Given the description of an element on the screen output the (x, y) to click on. 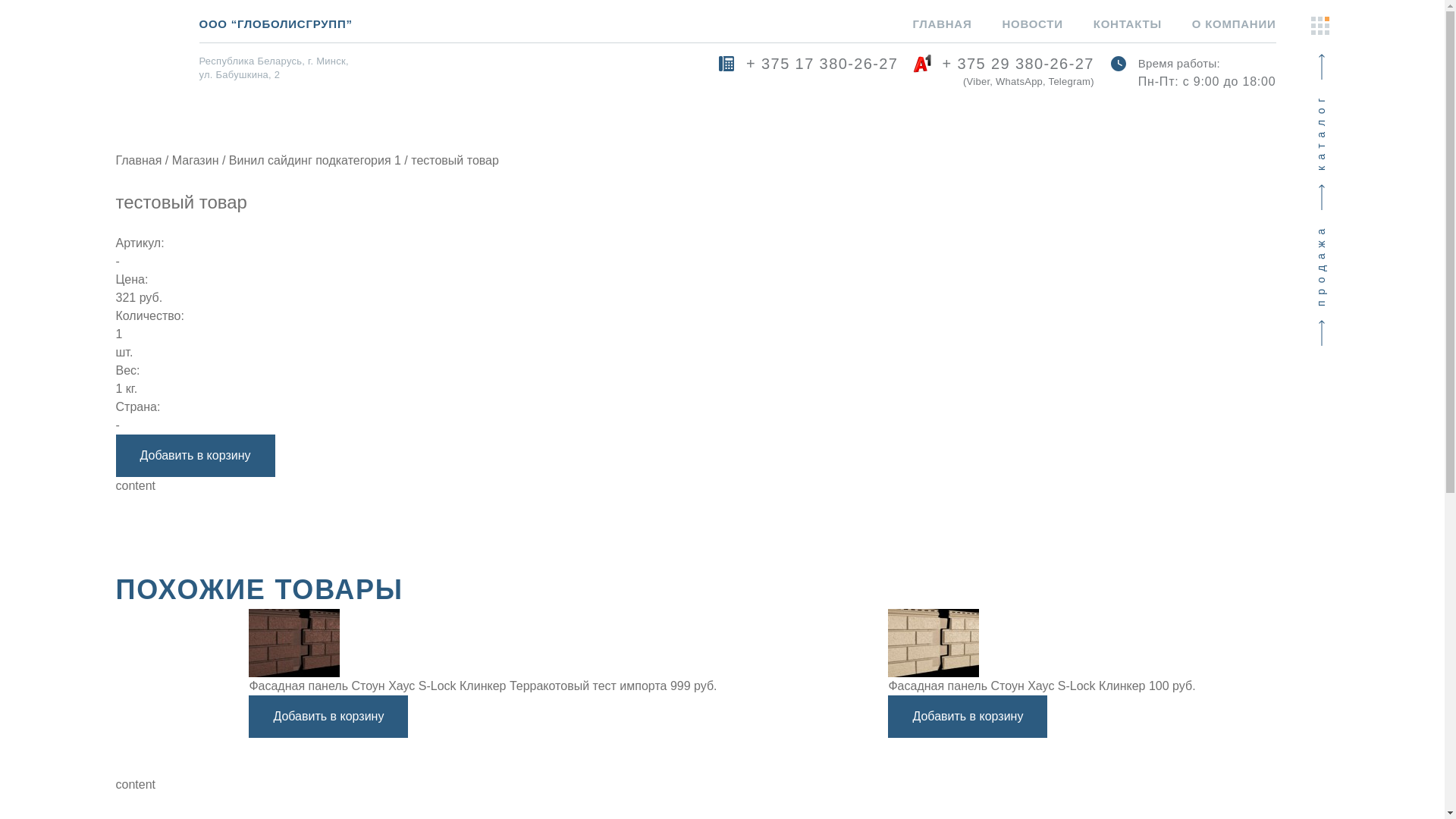
+ 375 17 380-26-27 Element type: text (807, 72)
+ 375 29 380-26-27
(Viber, WhatsApp, Telegram) Element type: text (1003, 72)
